Given the description of an element on the screen output the (x, y) to click on. 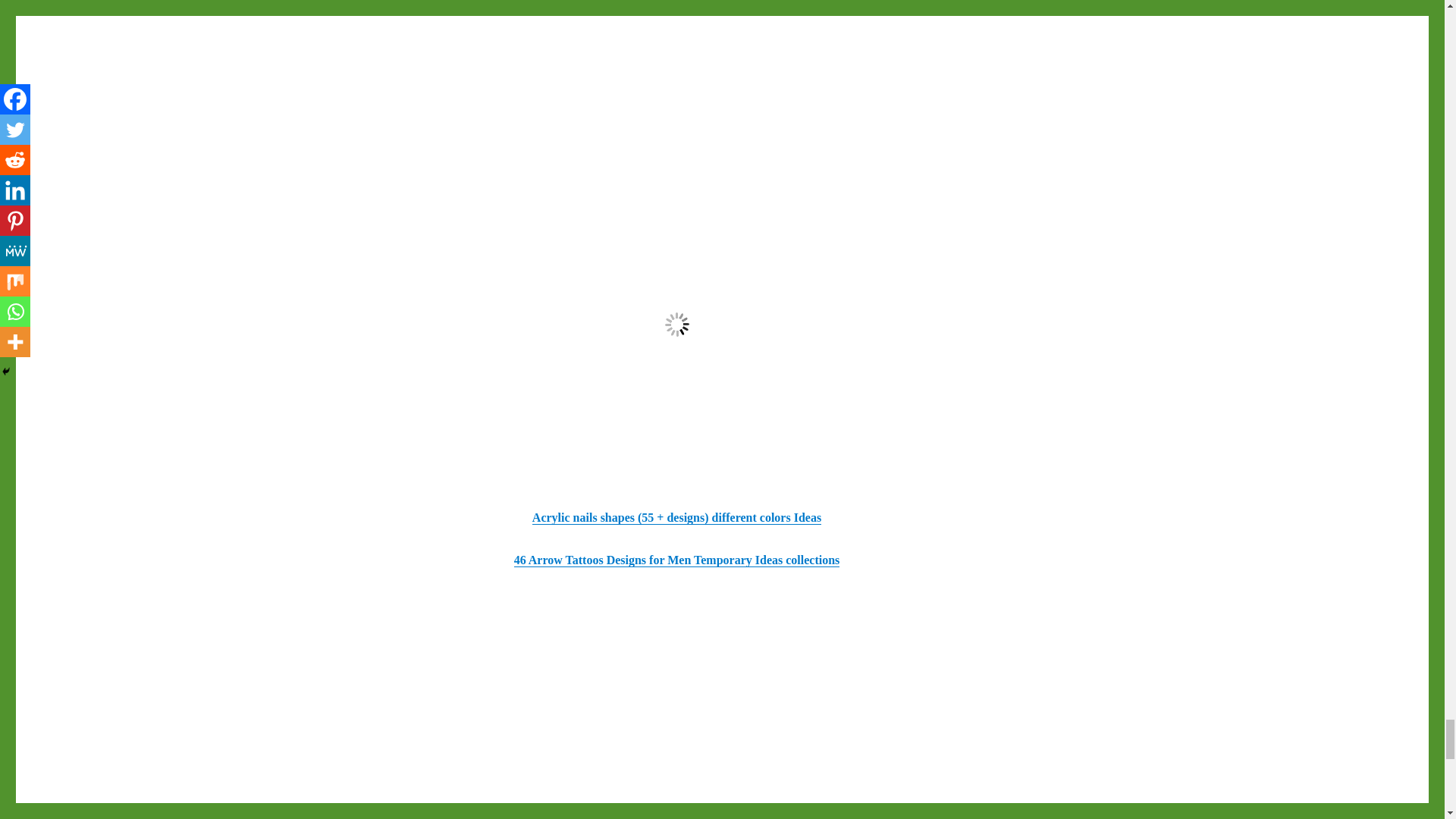
46 Arrow Tattoos Designs for Men Temporary Ideas collections (676, 559)
